Given the description of an element on the screen output the (x, y) to click on. 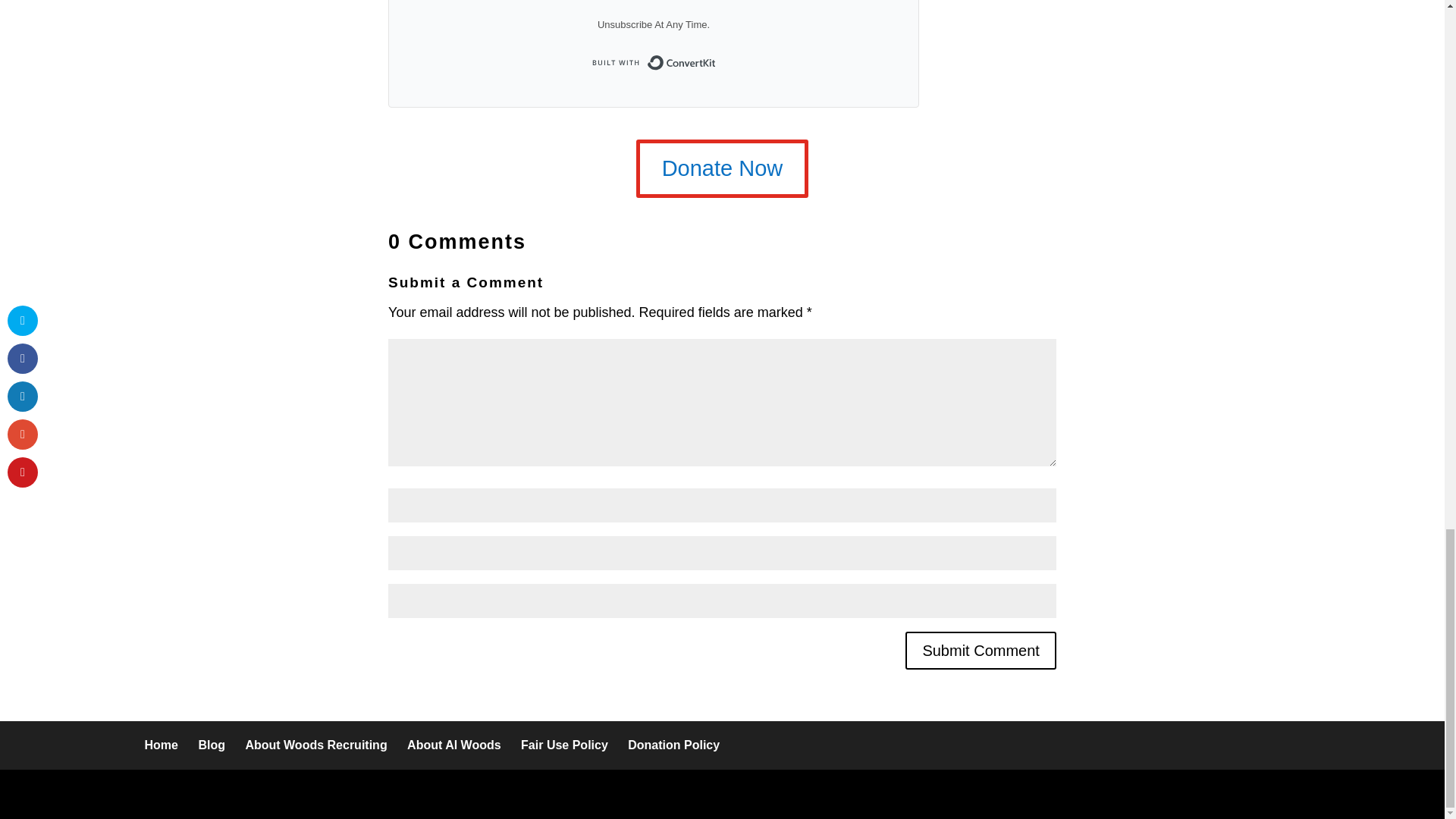
Premium WordPress Themes (273, 793)
About Al Woods (453, 744)
Submit Comment (981, 650)
About Woods Recruiting (315, 744)
Home (160, 744)
Blog (211, 744)
Built with ConvertKit (653, 62)
Donation Policy (673, 744)
Elegant Themes (273, 793)
WordPress (443, 793)
